Given the description of an element on the screen output the (x, y) to click on. 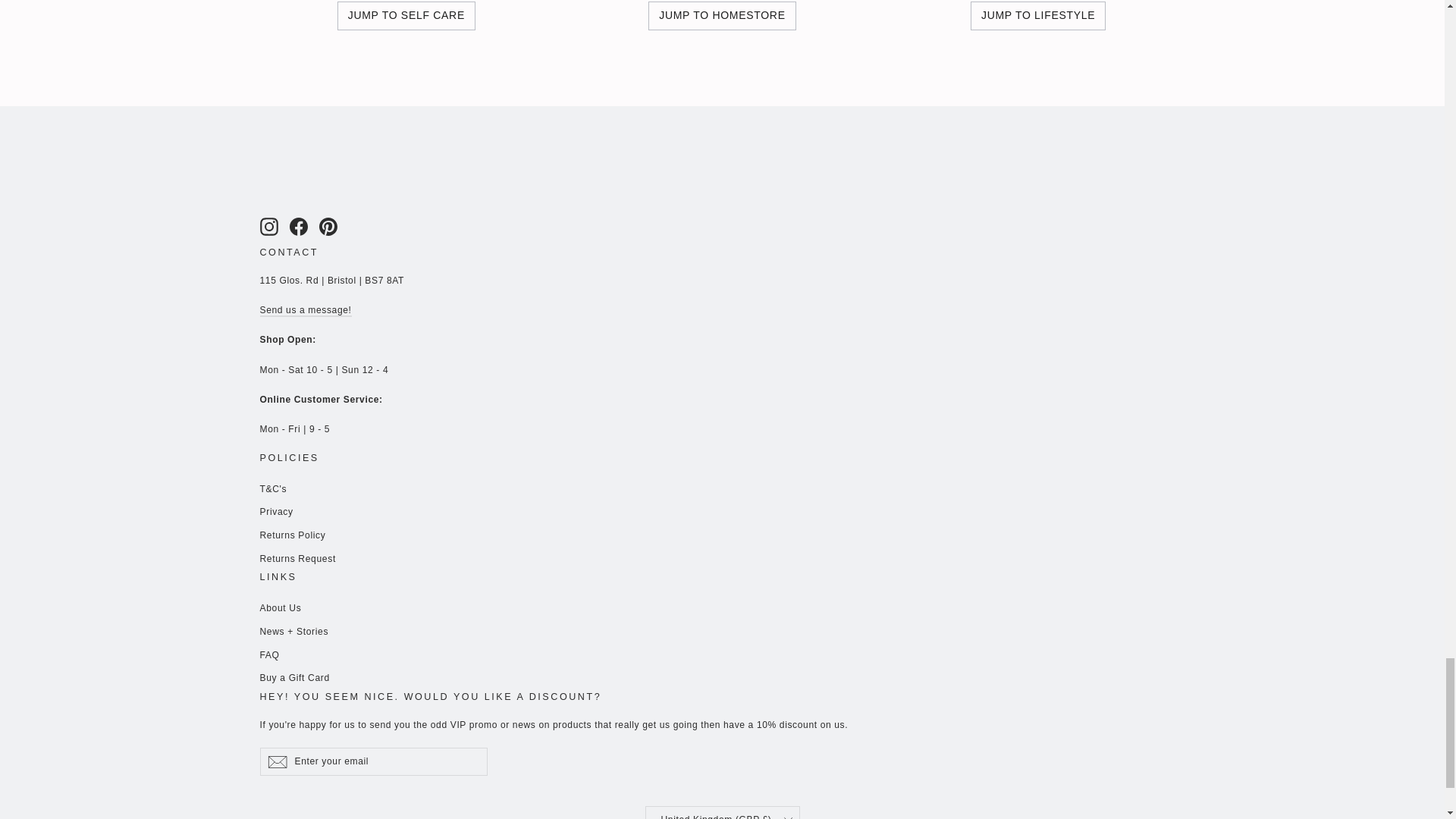
instagram (268, 226)
USTUDIO on Facebook (298, 226)
USTUDIO on Pinterest (327, 226)
Contact USTUDIO (304, 310)
USTUDIO on Instagram (268, 226)
icon-email (276, 761)
